Given the description of an element on the screen output the (x, y) to click on. 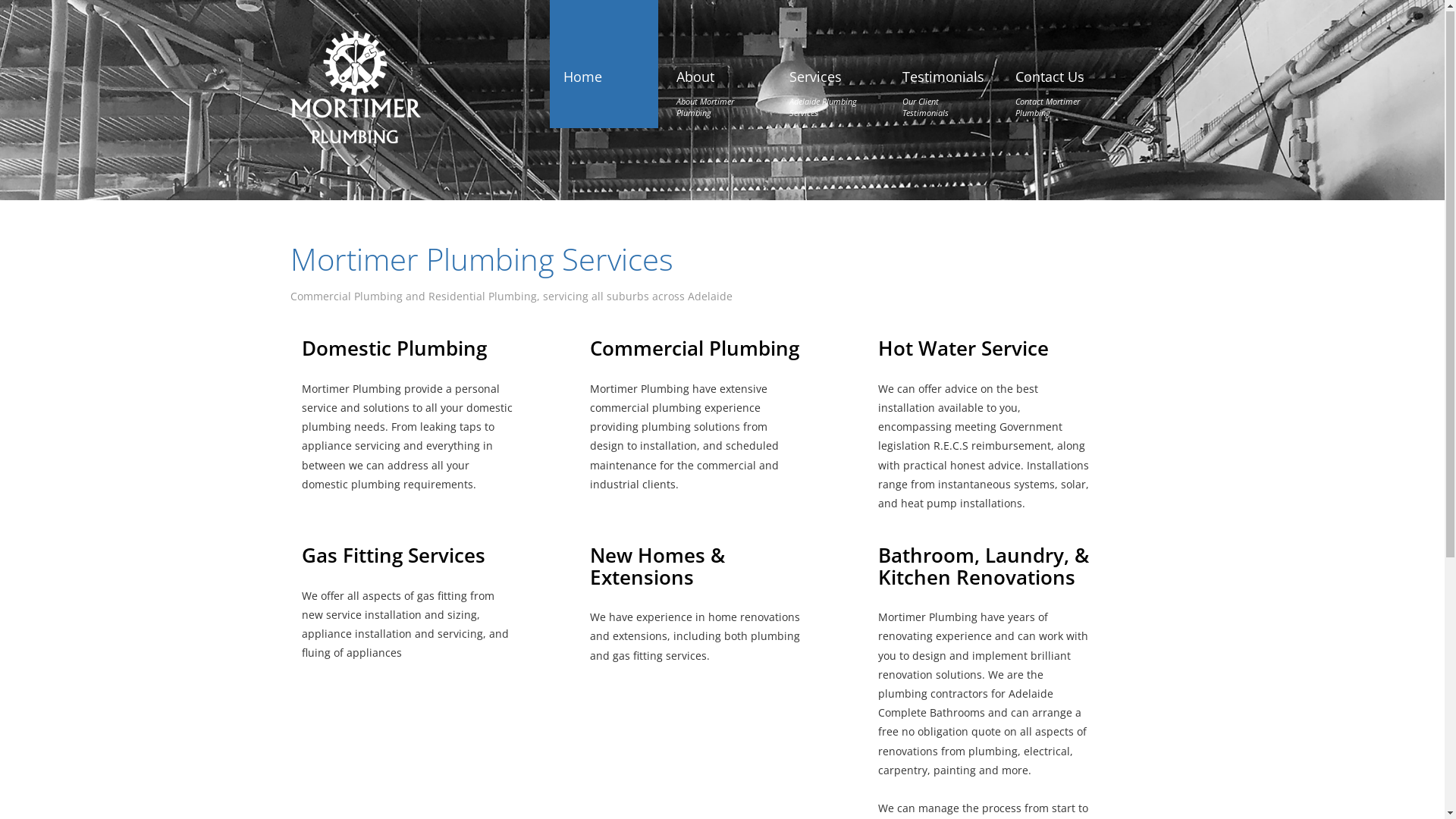
Services
Adelaide Plumbing Services Element type: text (826, 80)
Testimonials
Our Client Testimonials Element type: text (942, 80)
Contact Us
Contact Mortimer Plumbing Element type: text (1052, 80)
About
About Mortimer Plumbing Element type: text (713, 80)
Home Element type: text (582, 64)
